Given the description of an element on the screen output the (x, y) to click on. 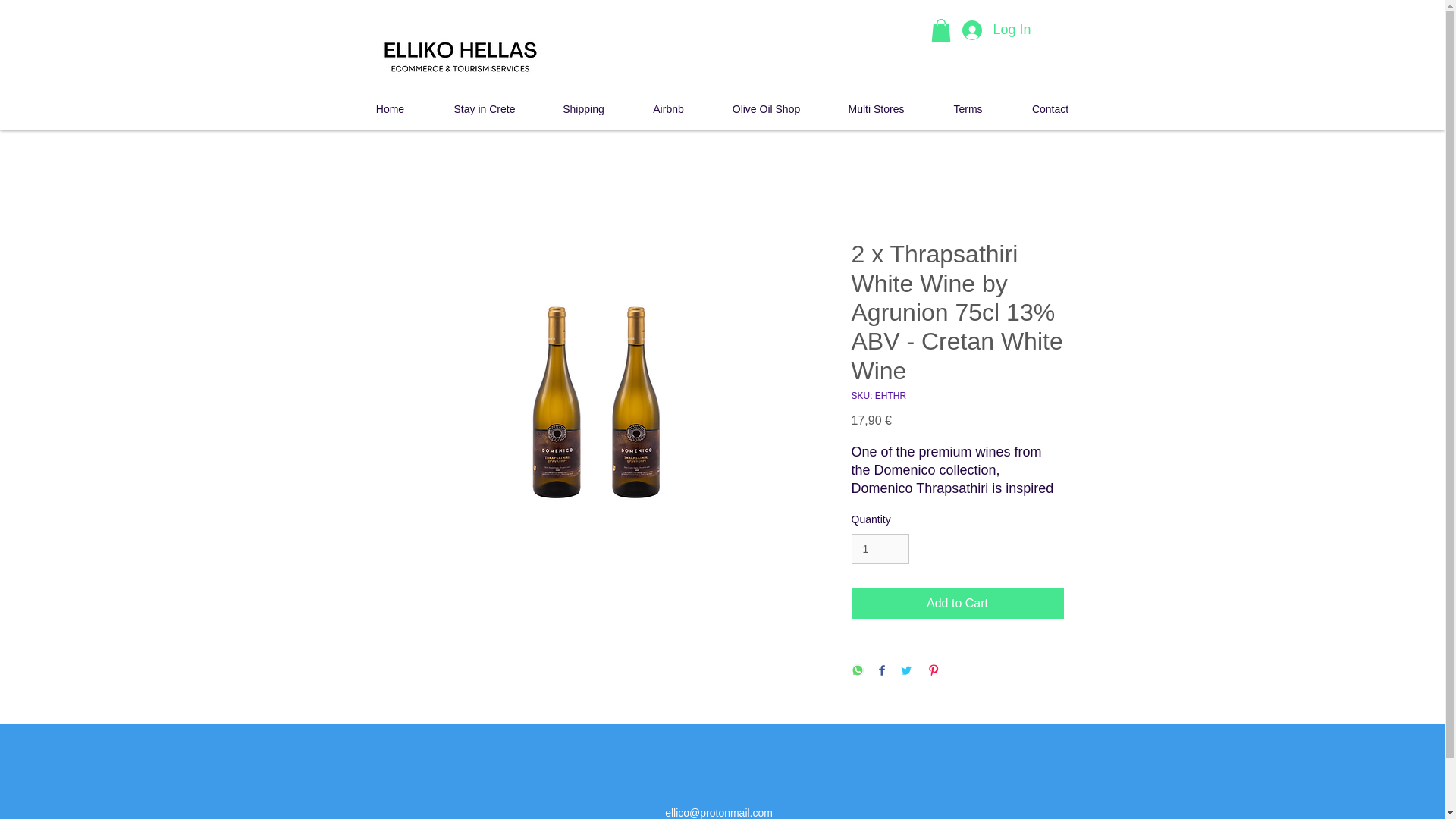
Airbnb (668, 108)
1 (879, 549)
Add to Cart (956, 603)
Multi Stores (877, 108)
Shipping (583, 108)
Home (389, 108)
Log In (996, 29)
Terms (968, 108)
Olive Oil Shop (767, 108)
Stay in Crete (483, 108)
